Given the description of an element on the screen output the (x, y) to click on. 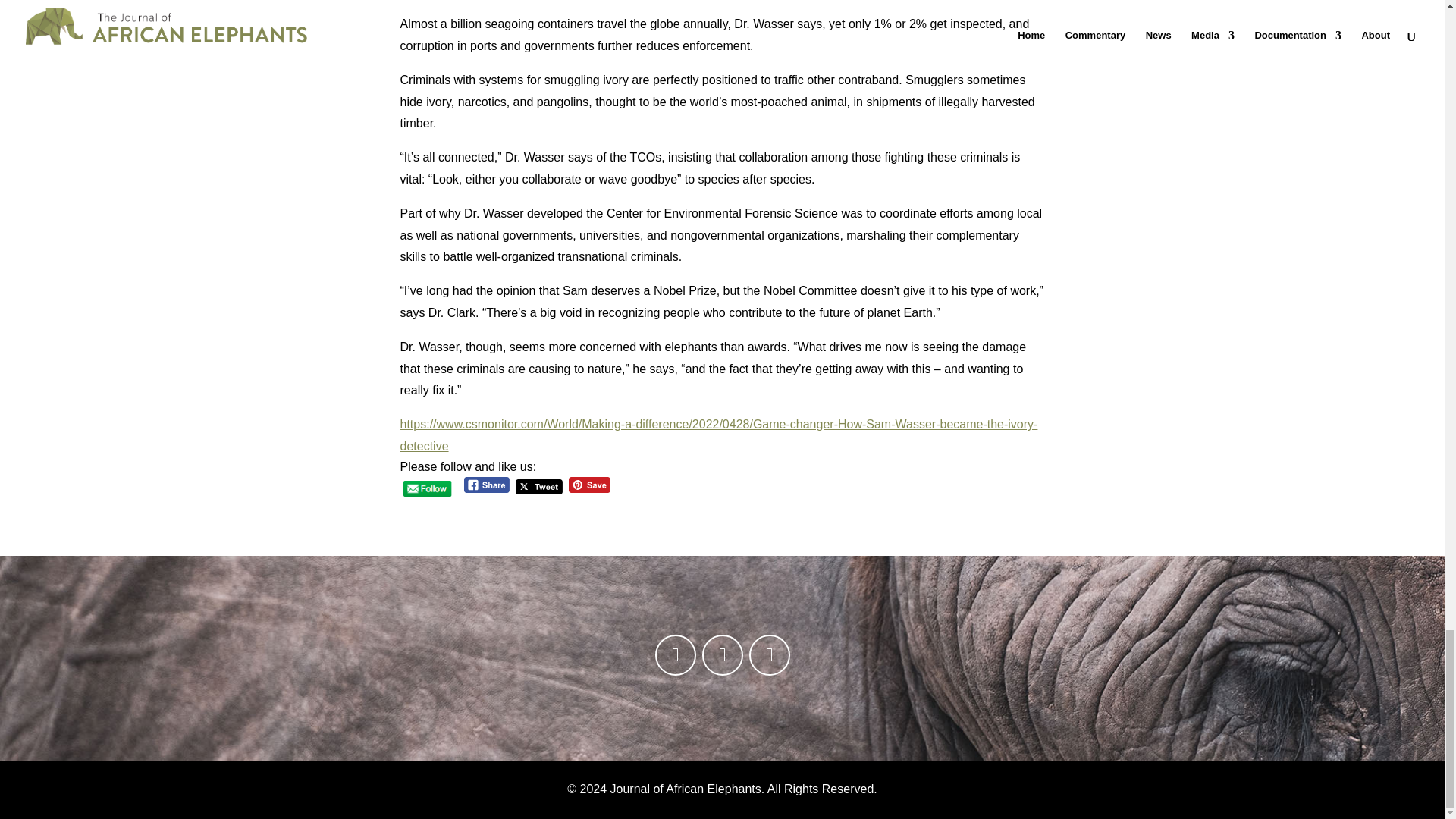
Pin Share (589, 484)
Facebook Share (487, 484)
Follow on Instagram (721, 654)
Follow on X (769, 654)
Tweet (538, 487)
Follow on Facebook (675, 654)
